Given the description of an element on the screen output the (x, y) to click on. 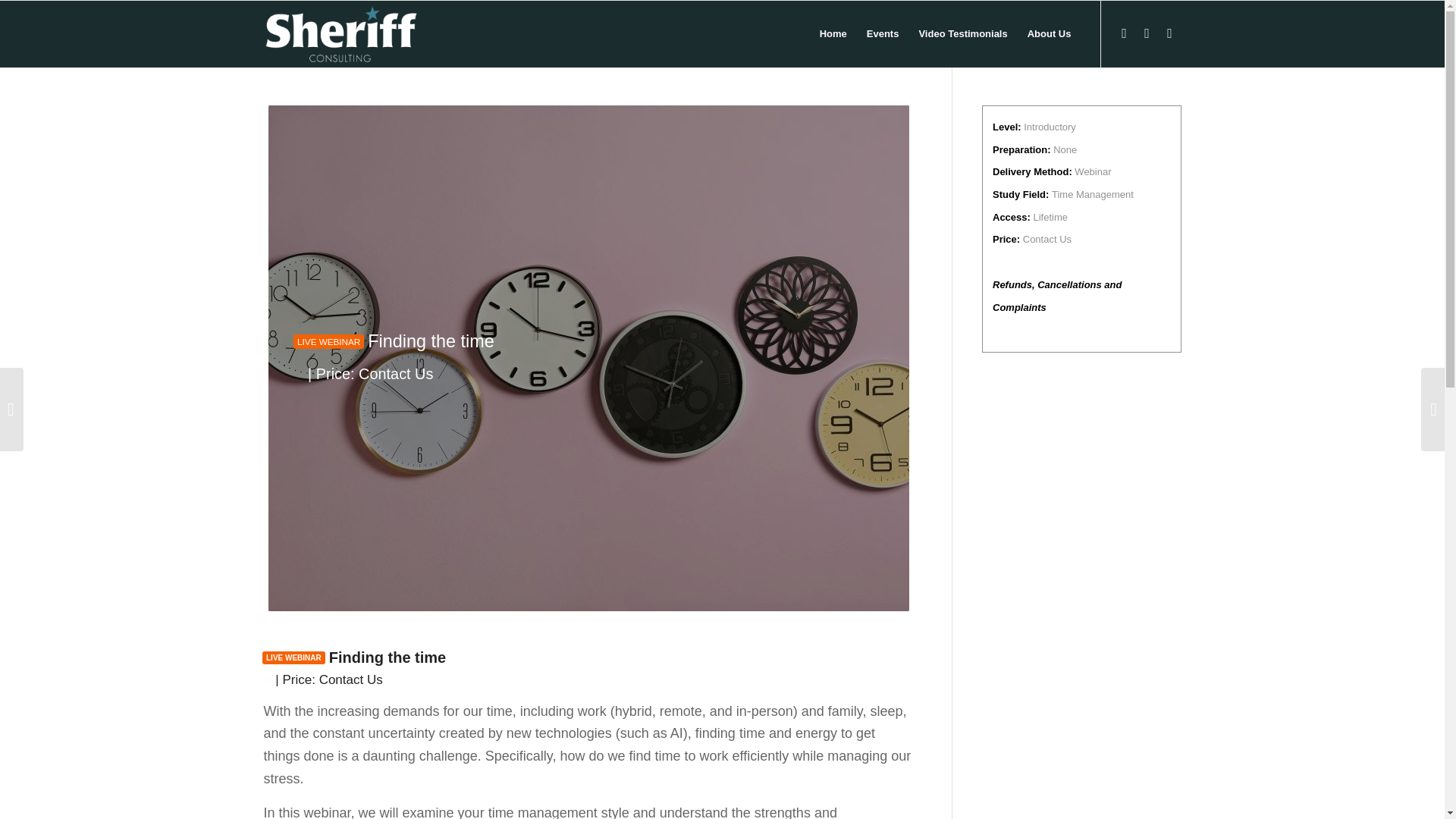
Video Testimonials (962, 33)
About Us (1049, 33)
X (1124, 33)
Youtube (1169, 33)
LinkedIn (1146, 33)
